Given the description of an element on the screen output the (x, y) to click on. 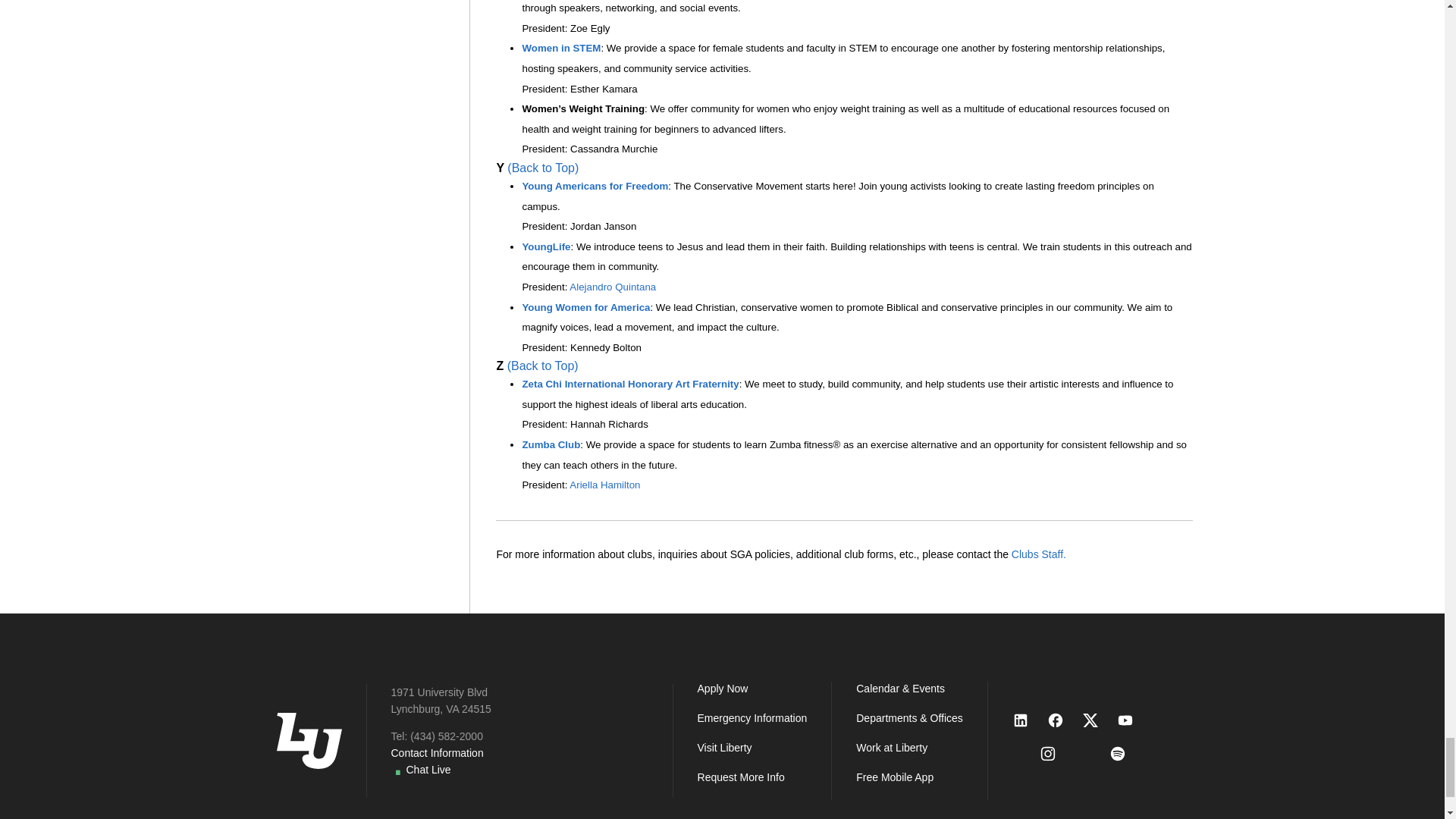
X Twitter White (1097, 719)
Pinterest White (1090, 760)
Linkedin White (1027, 719)
Facebook White (1062, 719)
Spotify White (1125, 753)
Youtube White (1132, 719)
Instagram White (1055, 753)
